Given the description of an element on the screen output the (x, y) to click on. 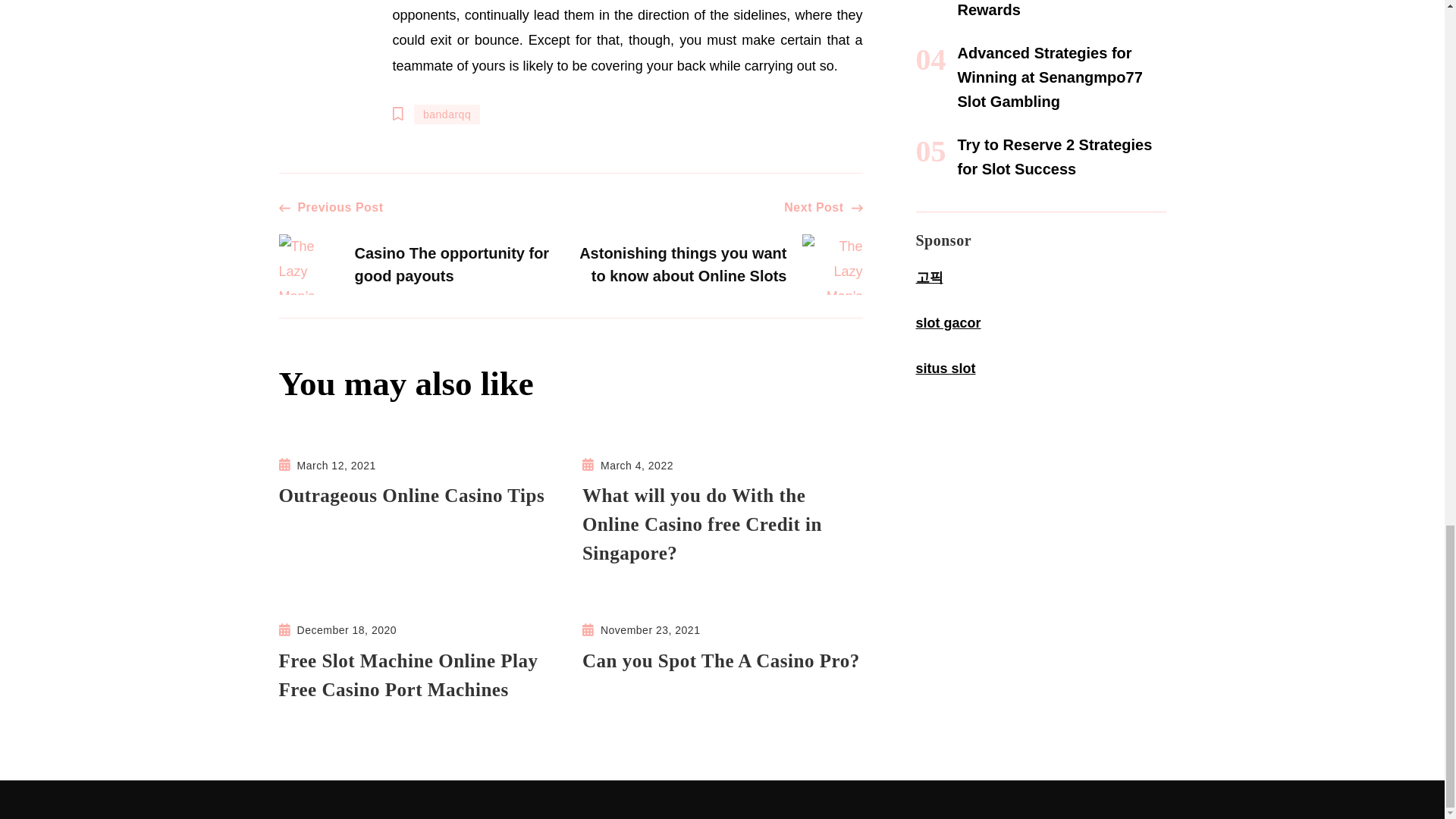
bandarqq (424, 245)
